Given the description of an element on the screen output the (x, y) to click on. 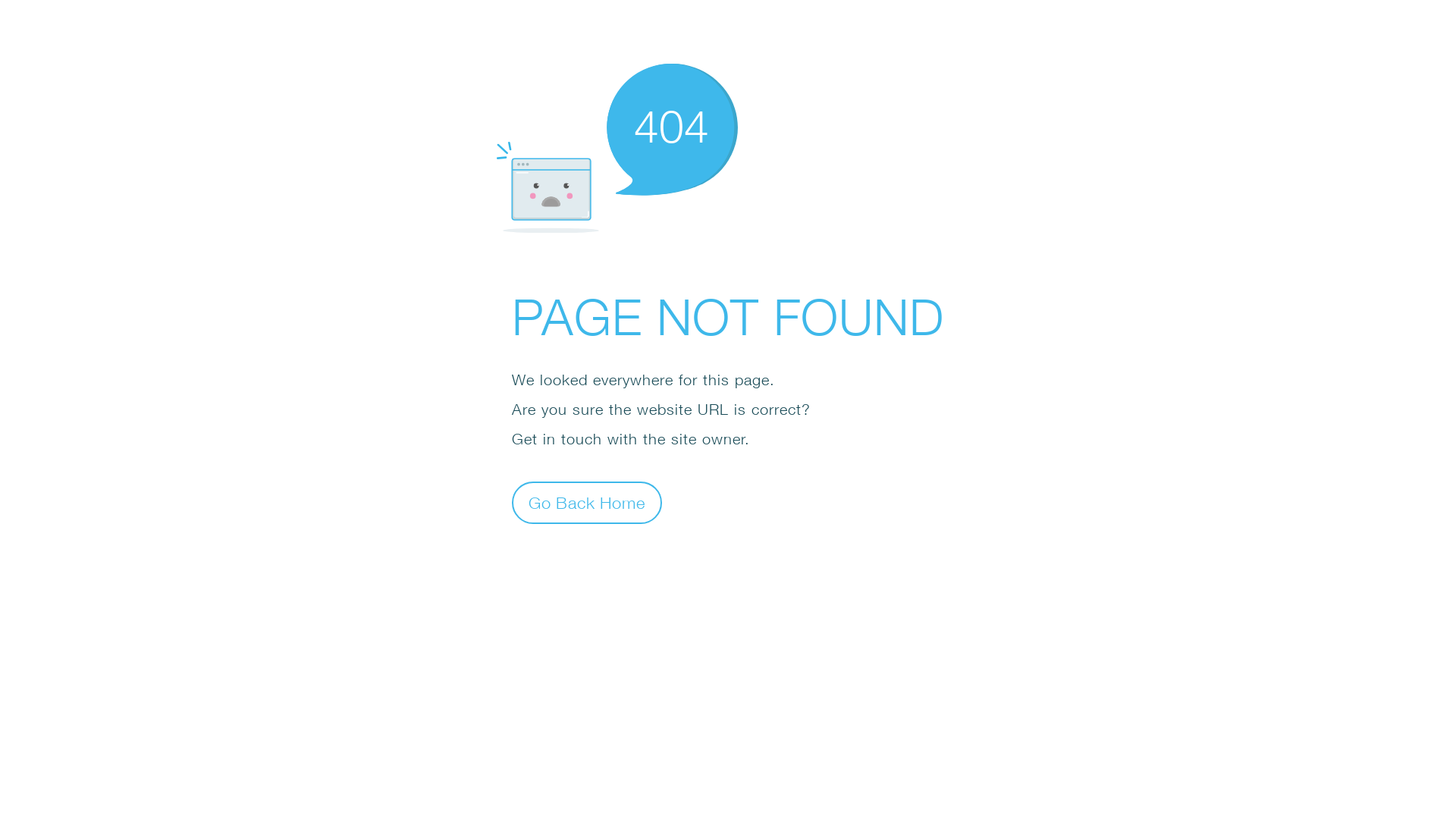
Go Back Home Element type: text (586, 502)
